Given the description of an element on the screen output the (x, y) to click on. 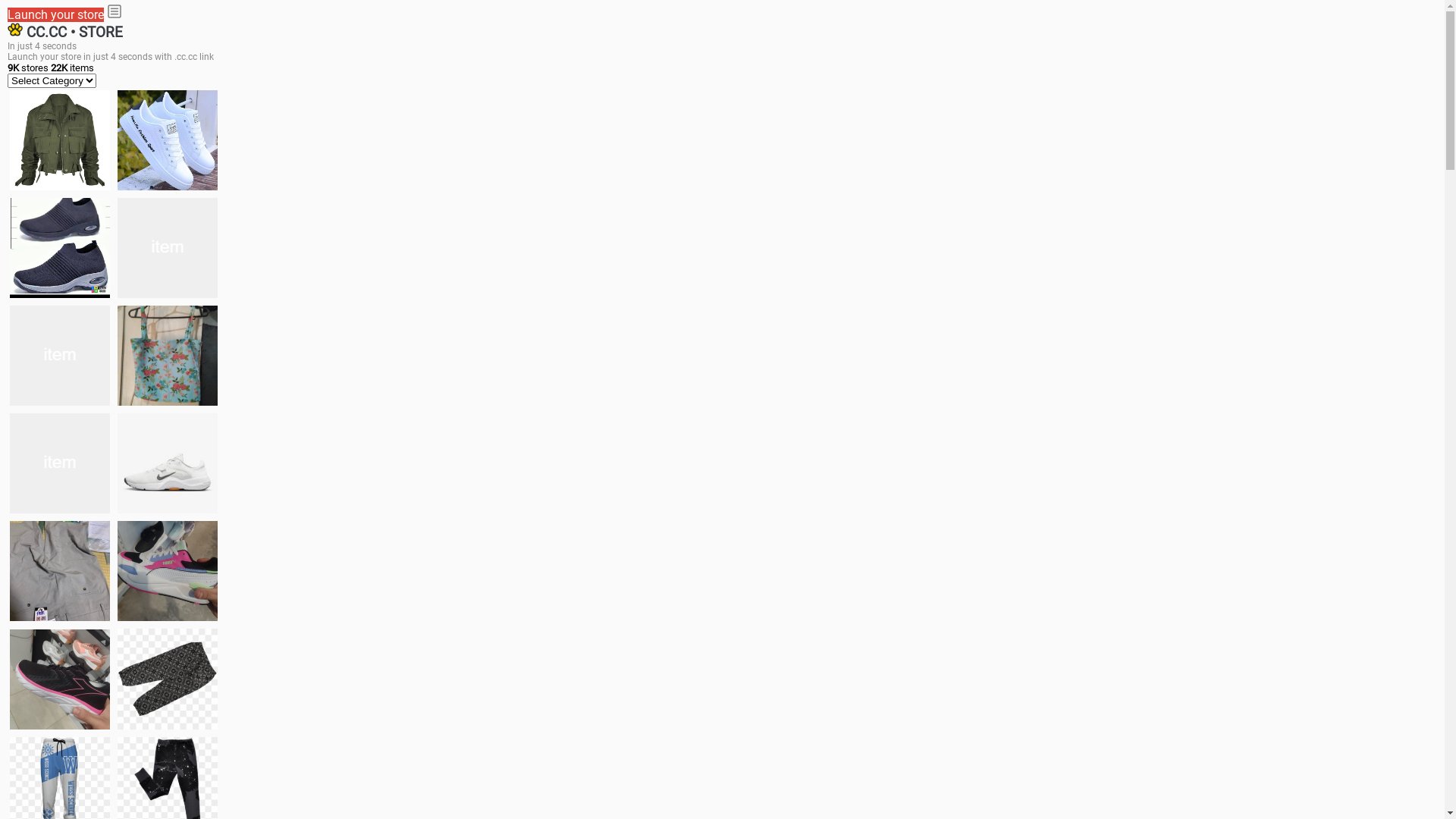
jacket Element type: hover (59, 140)
Short pant Element type: hover (167, 678)
white shoes Element type: hover (167, 140)
shoes for boys Element type: hover (59, 247)
Things we need Element type: hover (59, 355)
Shoes for boys Element type: hover (167, 247)
Launch your store Element type: text (55, 14)
Shoes Element type: hover (167, 463)
Ukay cloth Element type: hover (167, 355)
Zapatillas Element type: hover (59, 679)
Zapatillas pumas Element type: hover (167, 570)
Dress/square nect top Element type: hover (59, 463)
